Given the description of an element on the screen output the (x, y) to click on. 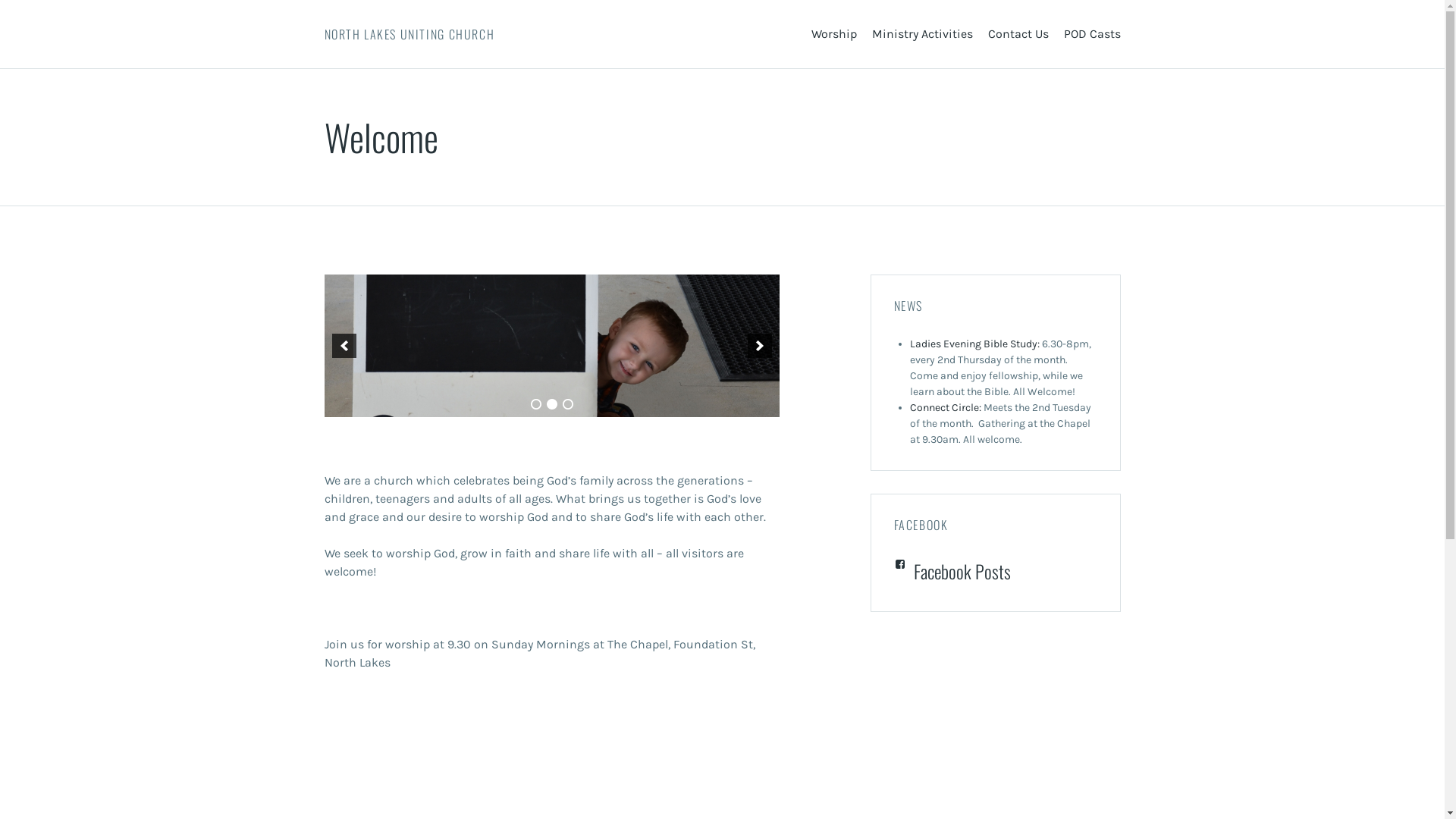
Ministry Activities Element type: text (922, 33)
Connect Circle: Element type: text (945, 407)
NORTH LAKES UNITING CHURCH Element type: text (409, 34)
POD Casts Element type: text (1091, 33)
Worship Element type: text (833, 33)
Contact Us Element type: text (1017, 33)
Ladies Evening Bible Study: Element type: text (974, 343)
